Given the description of an element on the screen output the (x, y) to click on. 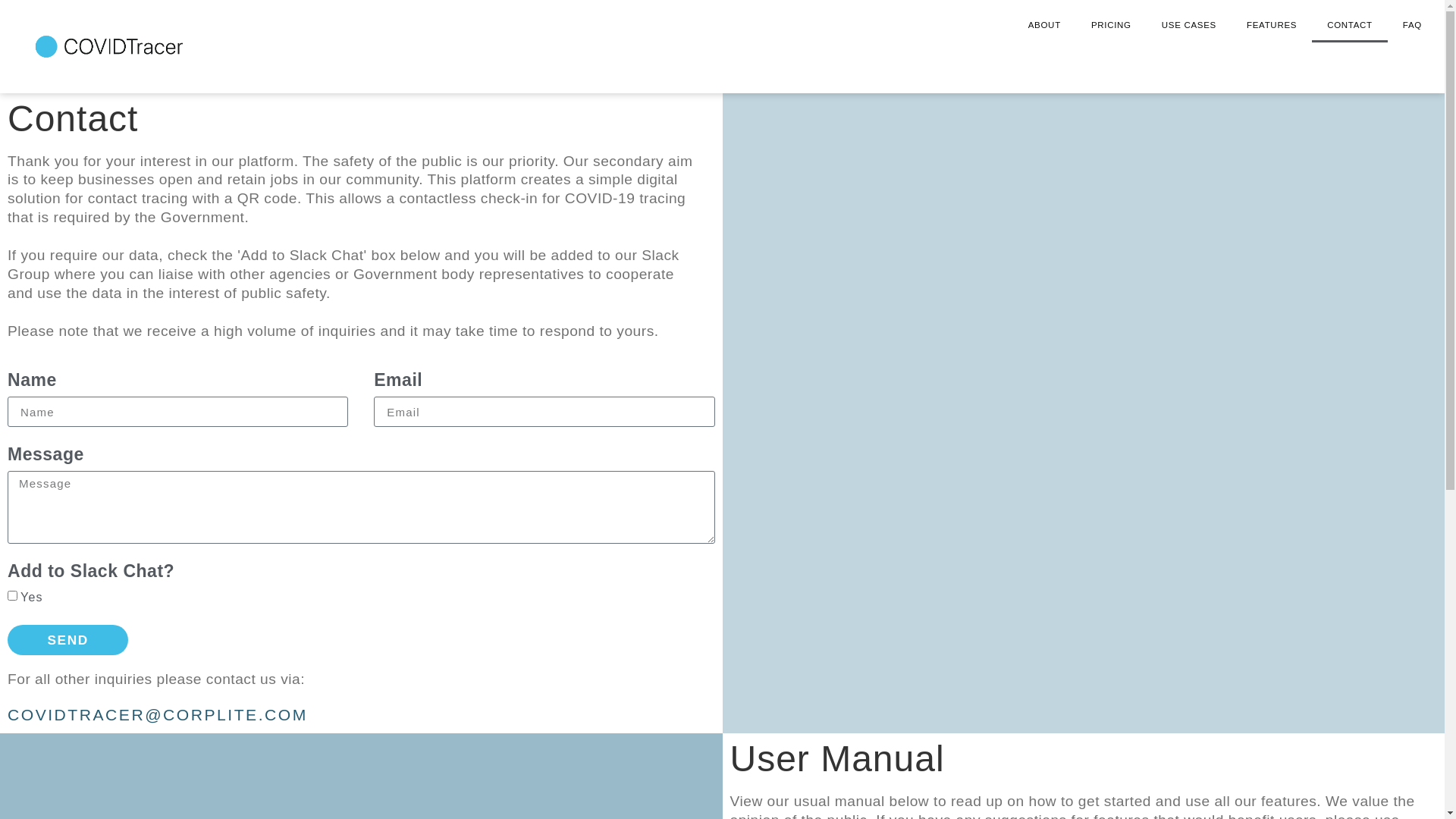
Home Element type: text (23, 322)
PRICING Element type: text (1111, 24)
FAQ Element type: text (1412, 24)
CONTACT Element type: text (1349, 24)
USE CASES Element type: text (1188, 24)
SEND Element type: text (67, 639)
FEATURES Element type: text (1271, 24)
ABOUT Element type: text (1044, 24)
